Given the description of an element on the screen output the (x, y) to click on. 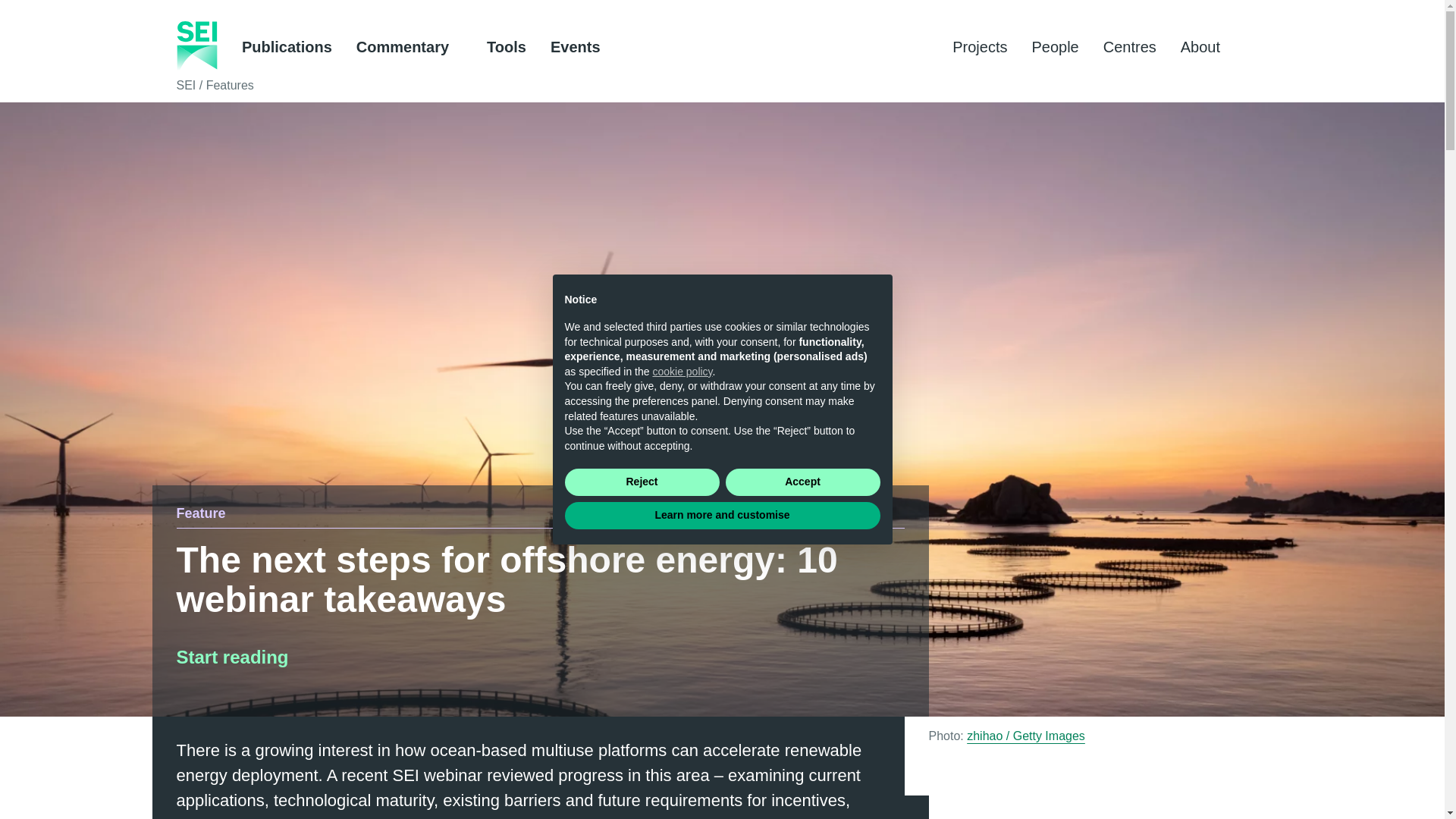
People (1054, 46)
Centres (1129, 46)
Commentary (409, 46)
Publications (286, 46)
Projects (979, 46)
Tools (505, 46)
Events (574, 46)
About (1206, 46)
